Given the description of an element on the screen output the (x, y) to click on. 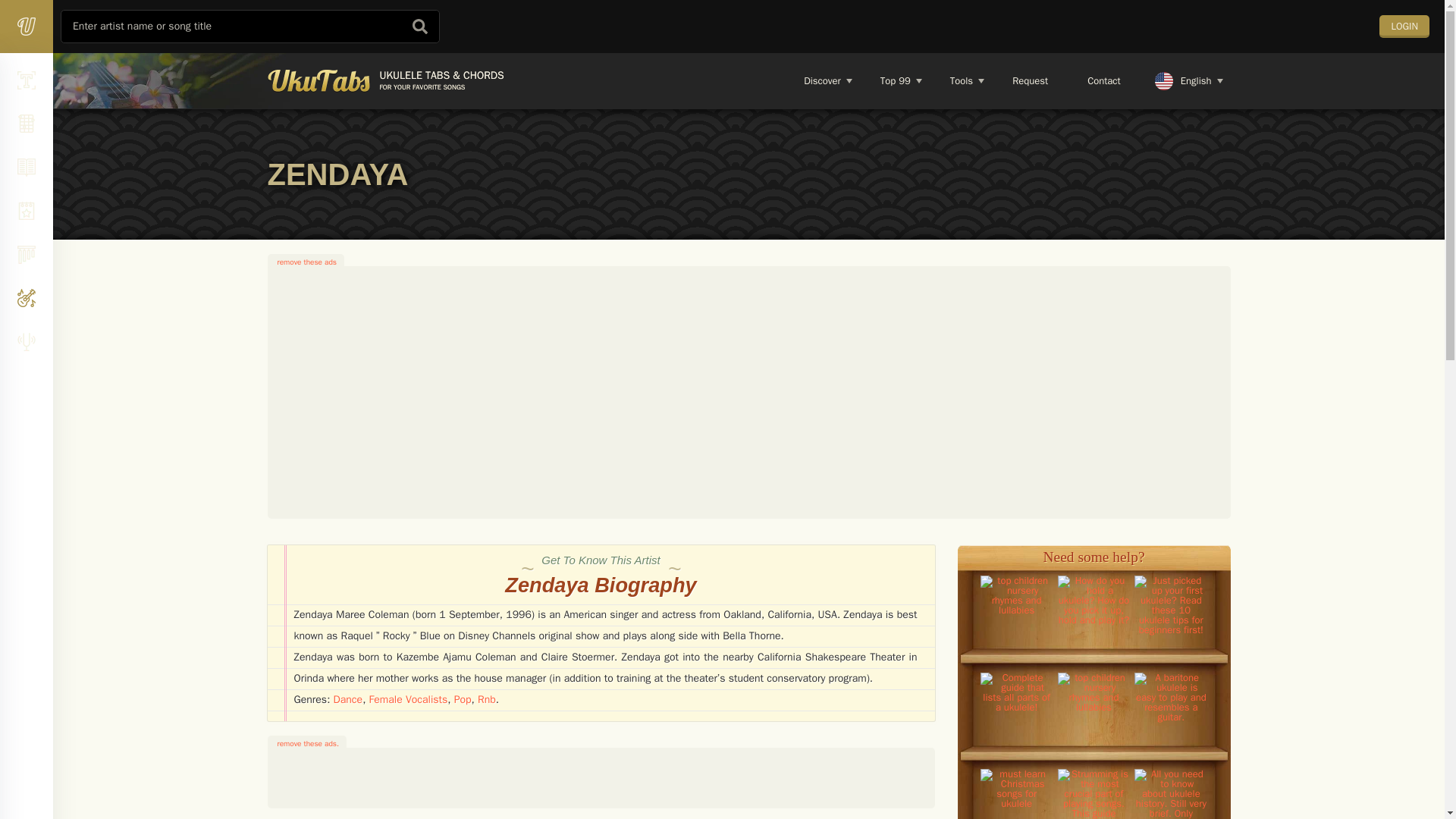
ukulele tools (960, 80)
Top 99 songs on UkuTabs (895, 80)
LOGIN (1403, 26)
Discover (821, 80)
Top 99 (1006, 80)
discover ukulele songs (895, 80)
